Given the description of an element on the screen output the (x, y) to click on. 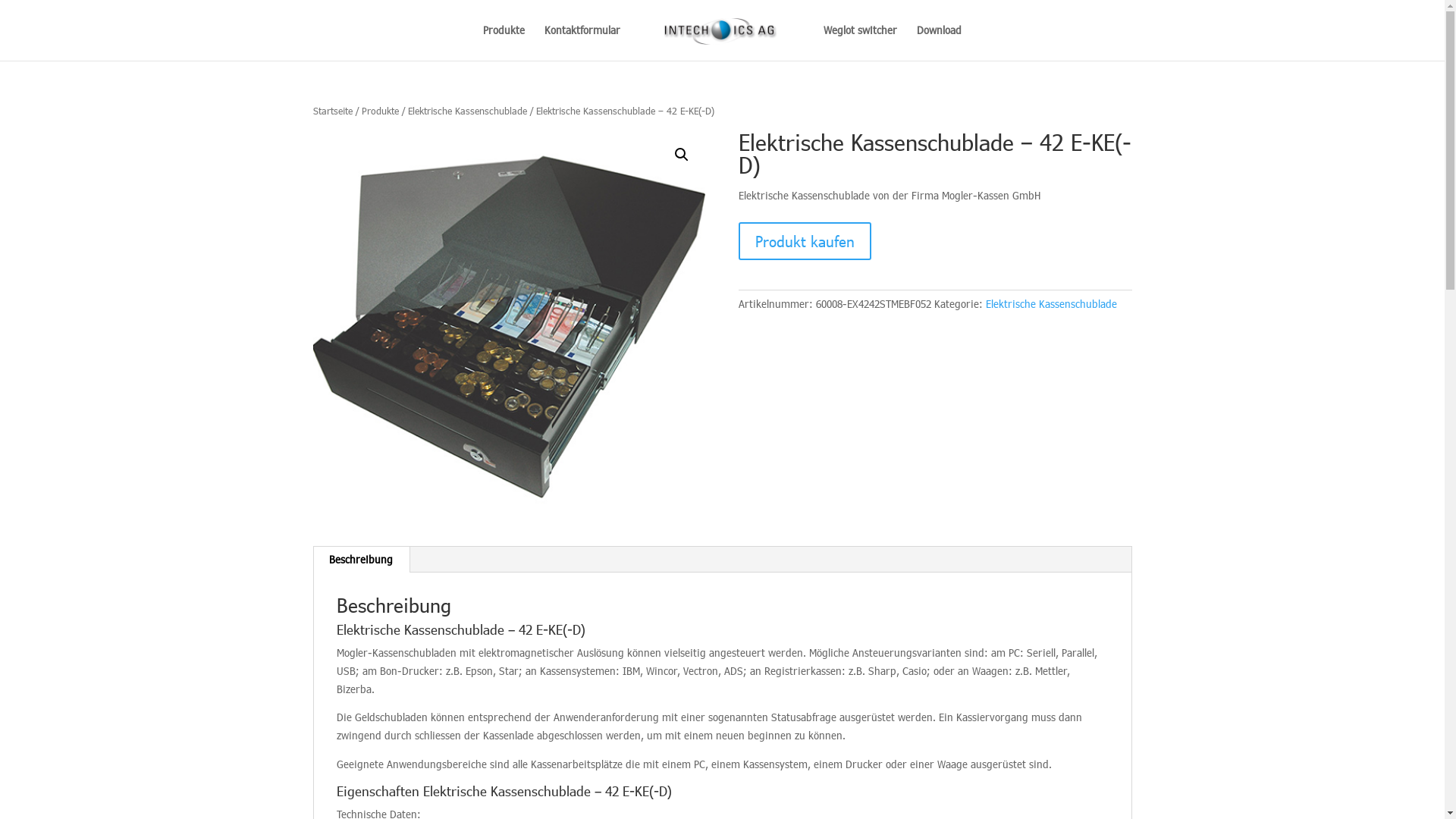
Download Element type: text (938, 42)
Beschreibung Element type: text (360, 559)
Kontaktformular Element type: text (582, 42)
Weglot switcher Element type: text (860, 42)
Produkte Element type: text (379, 110)
Elektrische Kassenschublade - 42 E-KE(-D) | Cash Corner Element type: hover (508, 326)
Elektrische Kassenschublade Element type: text (467, 110)
Produkte Element type: text (503, 42)
Produkt kaufen Element type: text (804, 241)
Startseite Element type: text (331, 110)
Elektrische Kassenschublade Element type: text (1051, 303)
